Given the description of an element on the screen output the (x, y) to click on. 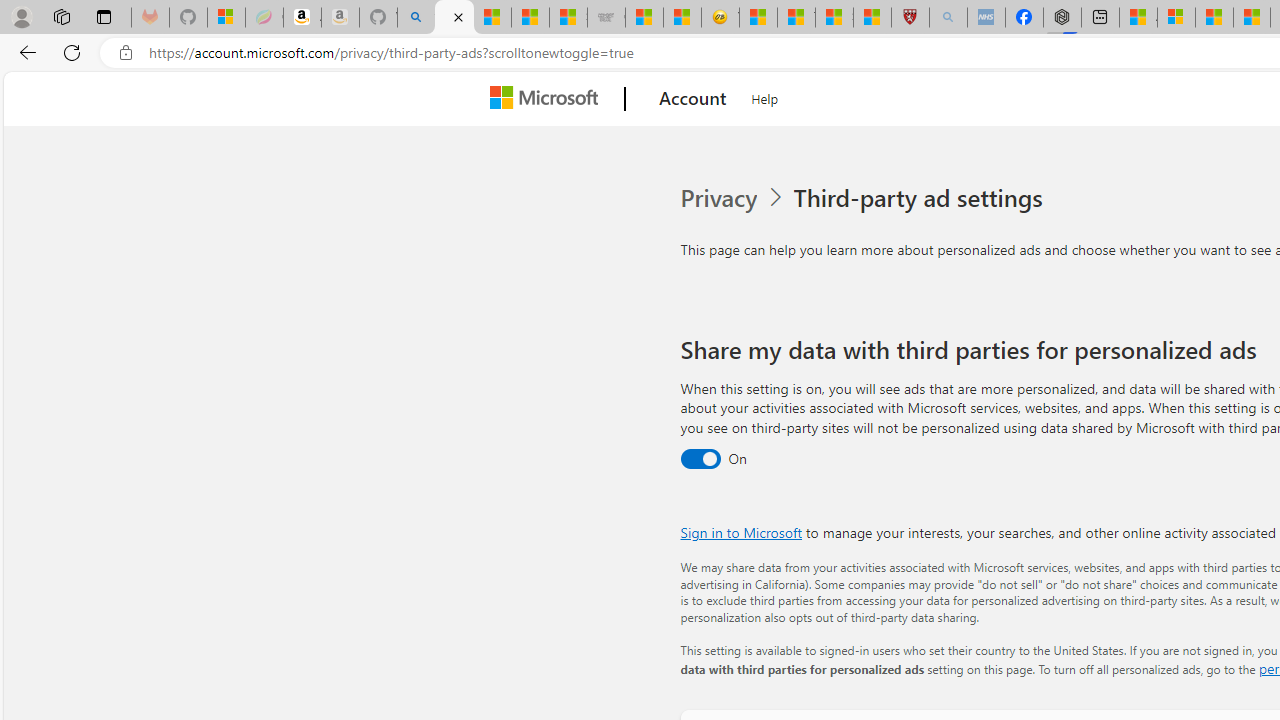
Microsoft (548, 99)
Nordace - Nordace Siena Is Not An Ordinary Backpack (1062, 17)
Sign in to Microsoft (740, 532)
Recipes - MSN (757, 17)
Microsoft-Report a Concern to Bing (225, 17)
Privacy (720, 197)
